Given the description of an element on the screen output the (x, y) to click on. 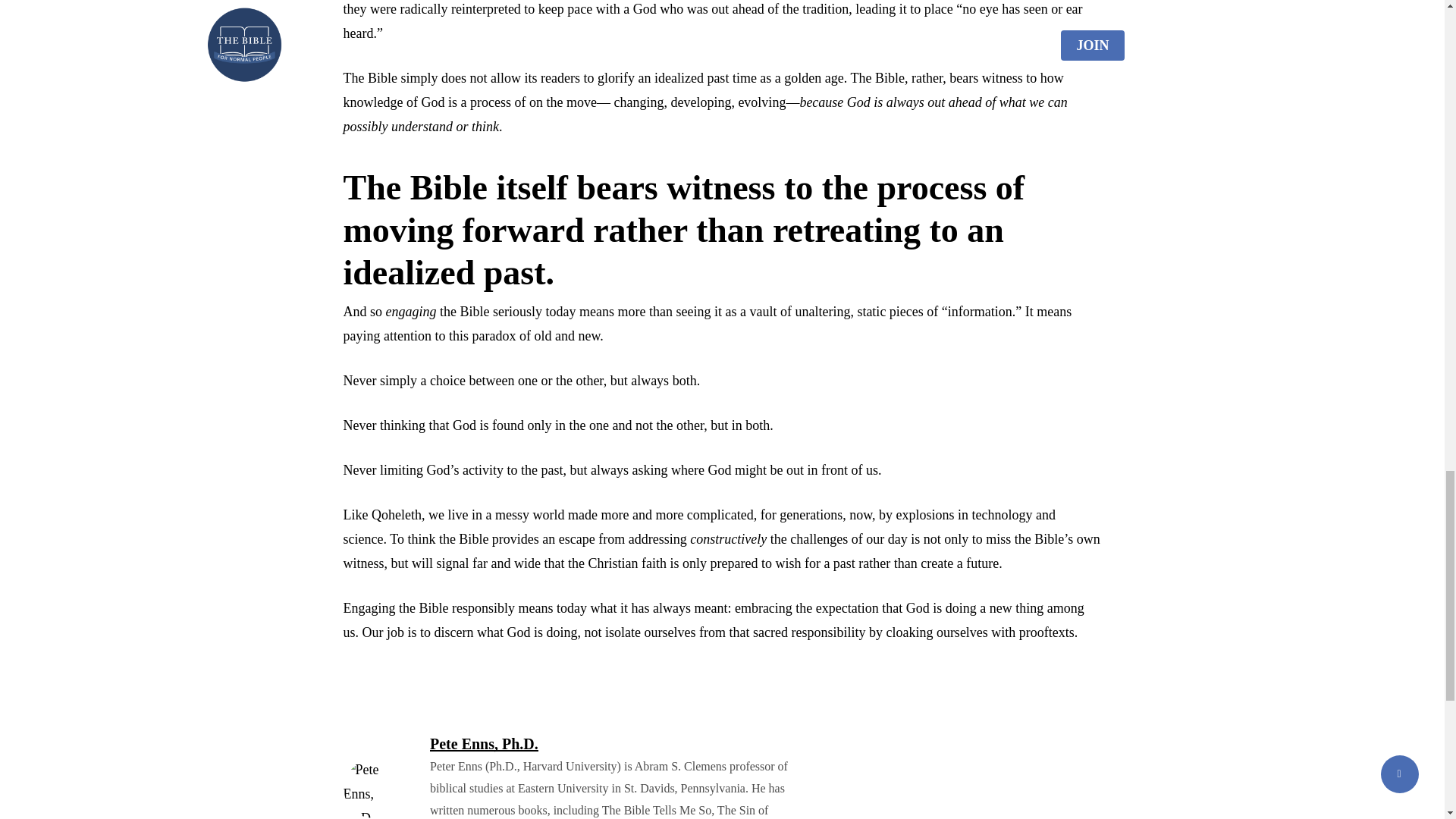
Pete Enns, Ph.D. (483, 743)
